Given the description of an element on the screen output the (x, y) to click on. 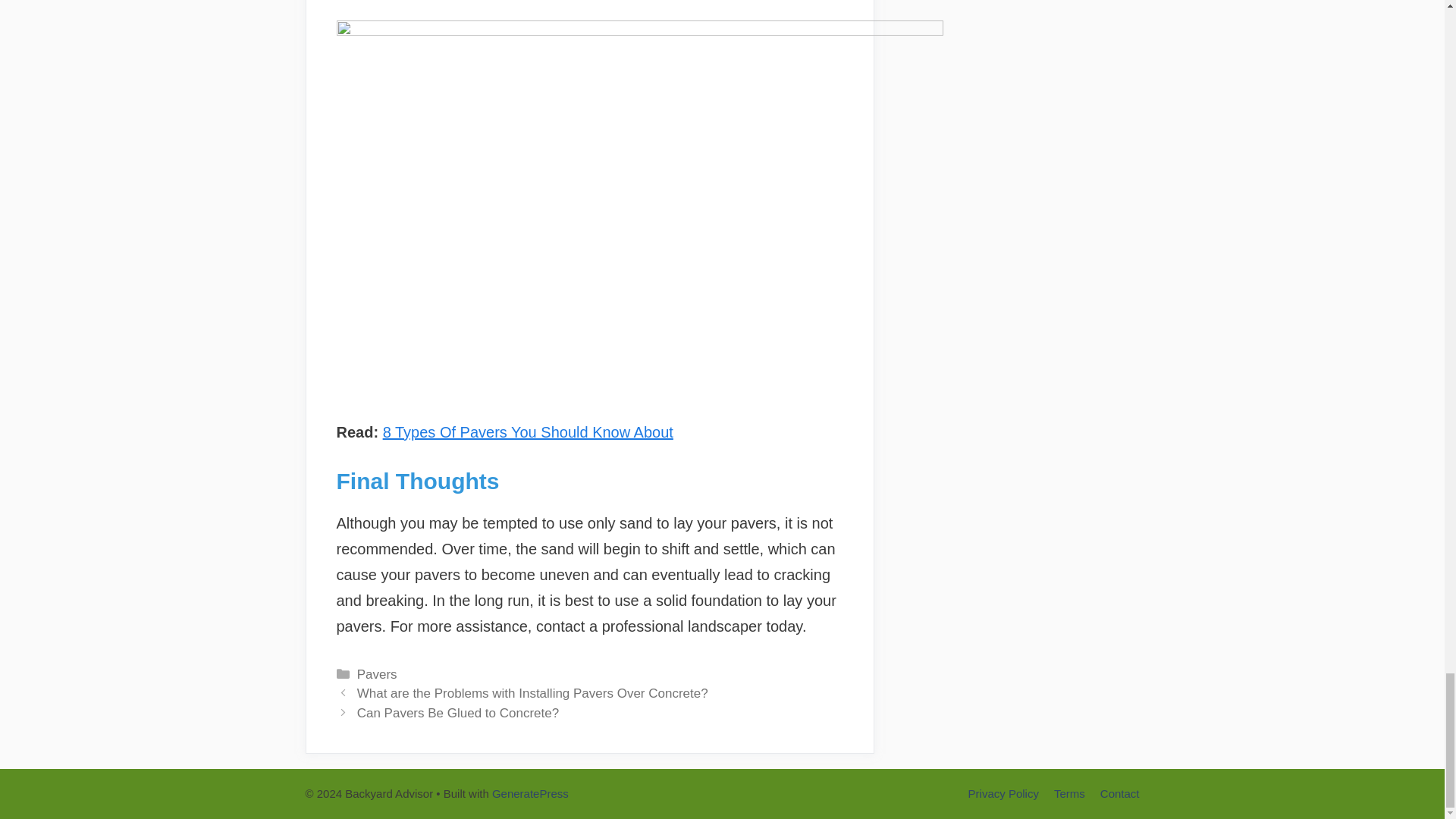
Contact (1120, 793)
Can Pavers Be Glued to Concrete? (457, 712)
Pavers (376, 673)
GeneratePress (530, 793)
Privacy Policy (1003, 793)
8 Types Of Pavers You Should Know About (527, 432)
Terms (1069, 793)
What are the Problems with Installing Pavers Over Concrete? (531, 693)
